Given the description of an element on the screen output the (x, y) to click on. 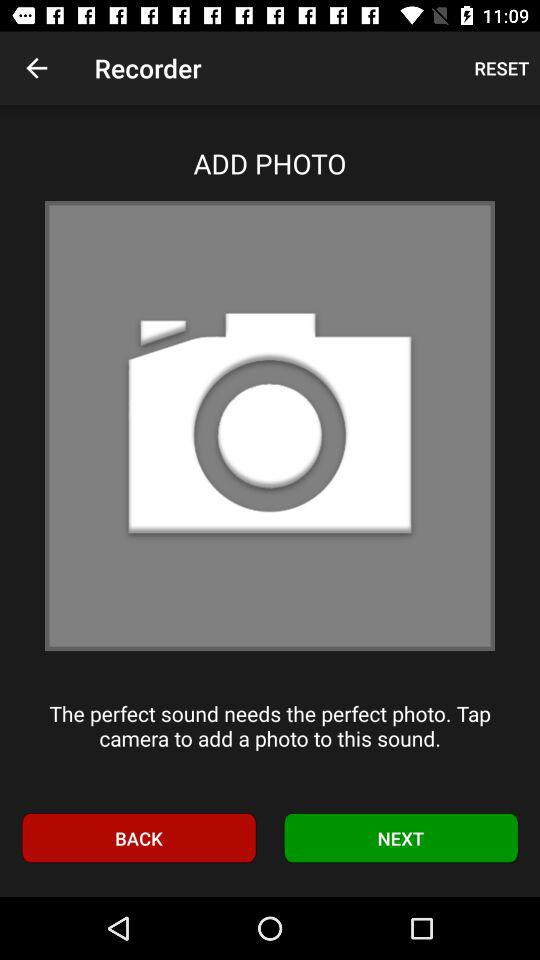
turn on reset item (501, 67)
